Given the description of an element on the screen output the (x, y) to click on. 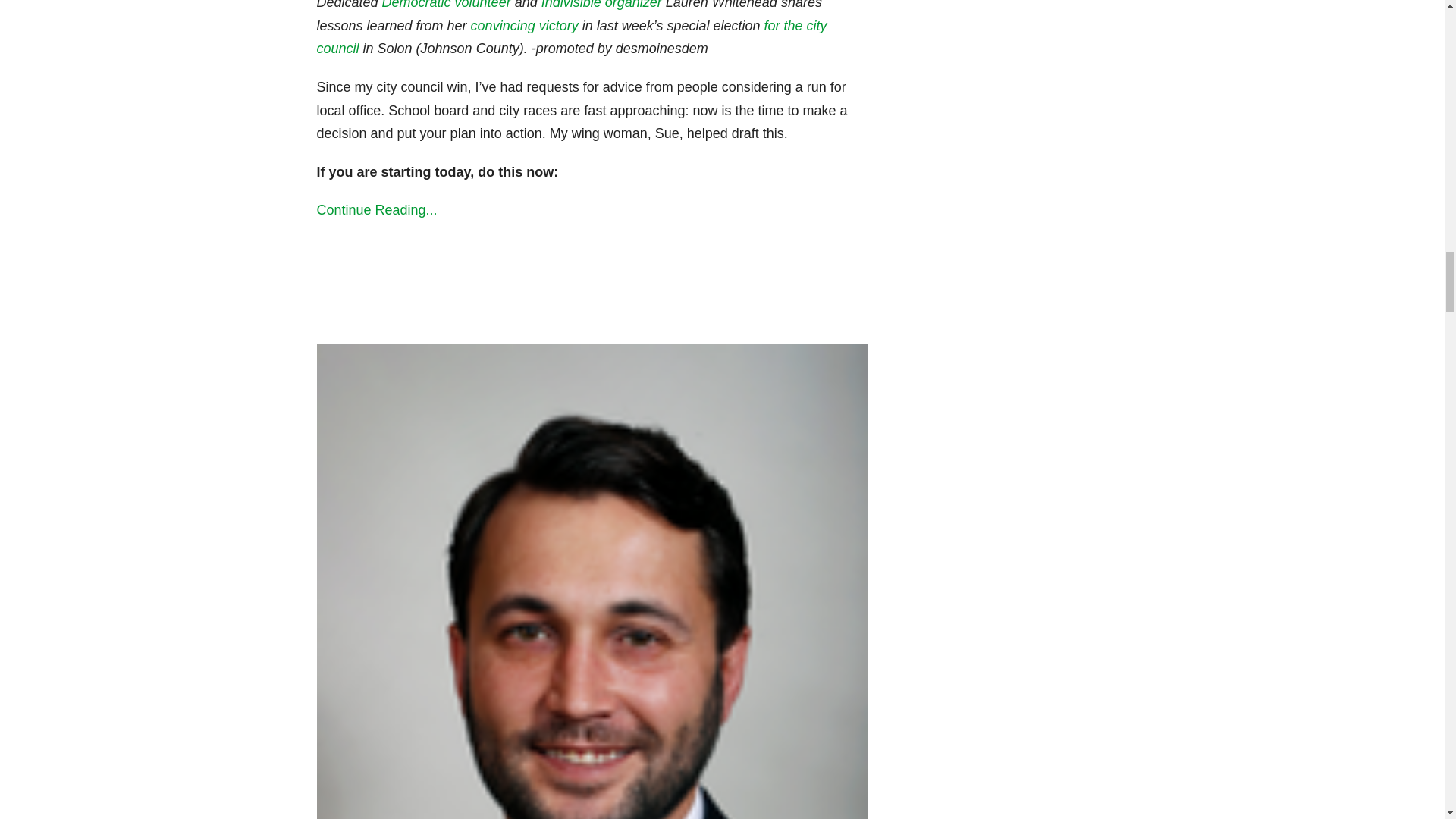
for the city council (572, 37)
Indivisible organizer (601, 4)
convincing victory (524, 25)
Continue Reading... (593, 210)
Democratic volunteer (446, 4)
